Given the description of an element on the screen output the (x, y) to click on. 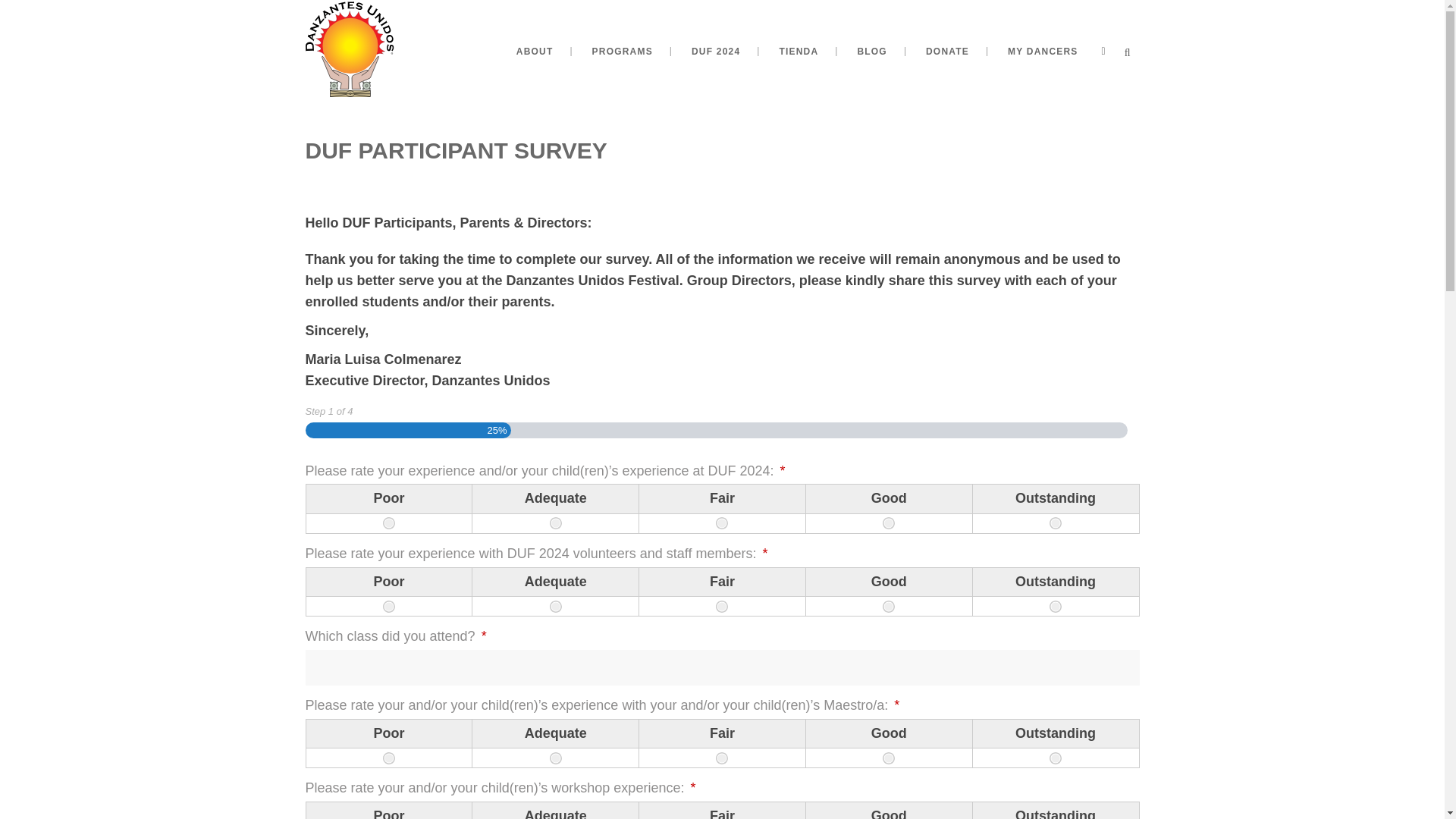
PROGRAMS (622, 51)
My Dancers (1043, 51)
MY DANCERS (1043, 51)
Search (355, 52)
